Given the description of an element on the screen output the (x, y) to click on. 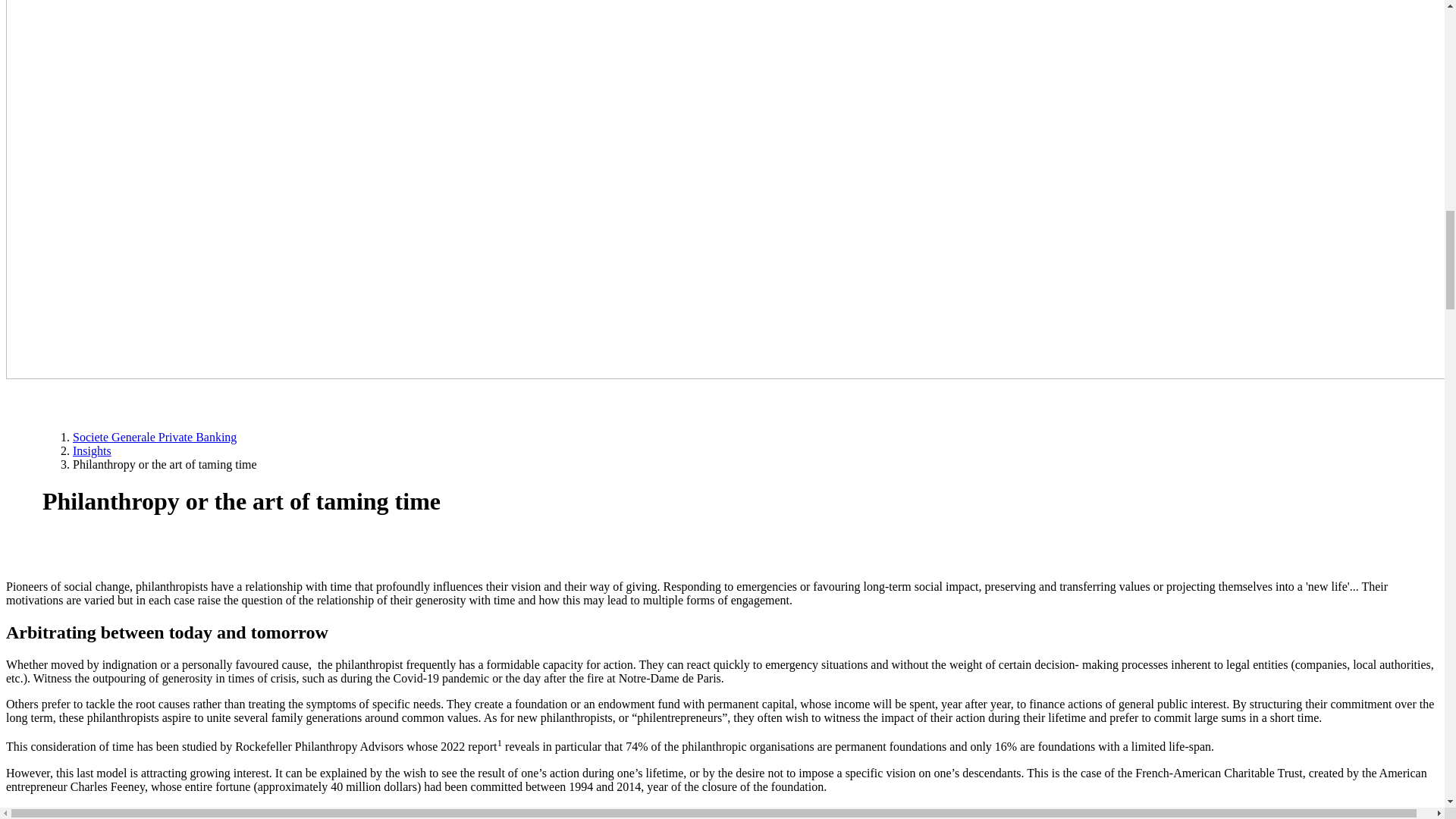
Societe Generale Private Banking (153, 436)
Insights (92, 450)
